Given the description of an element on the screen output the (x, y) to click on. 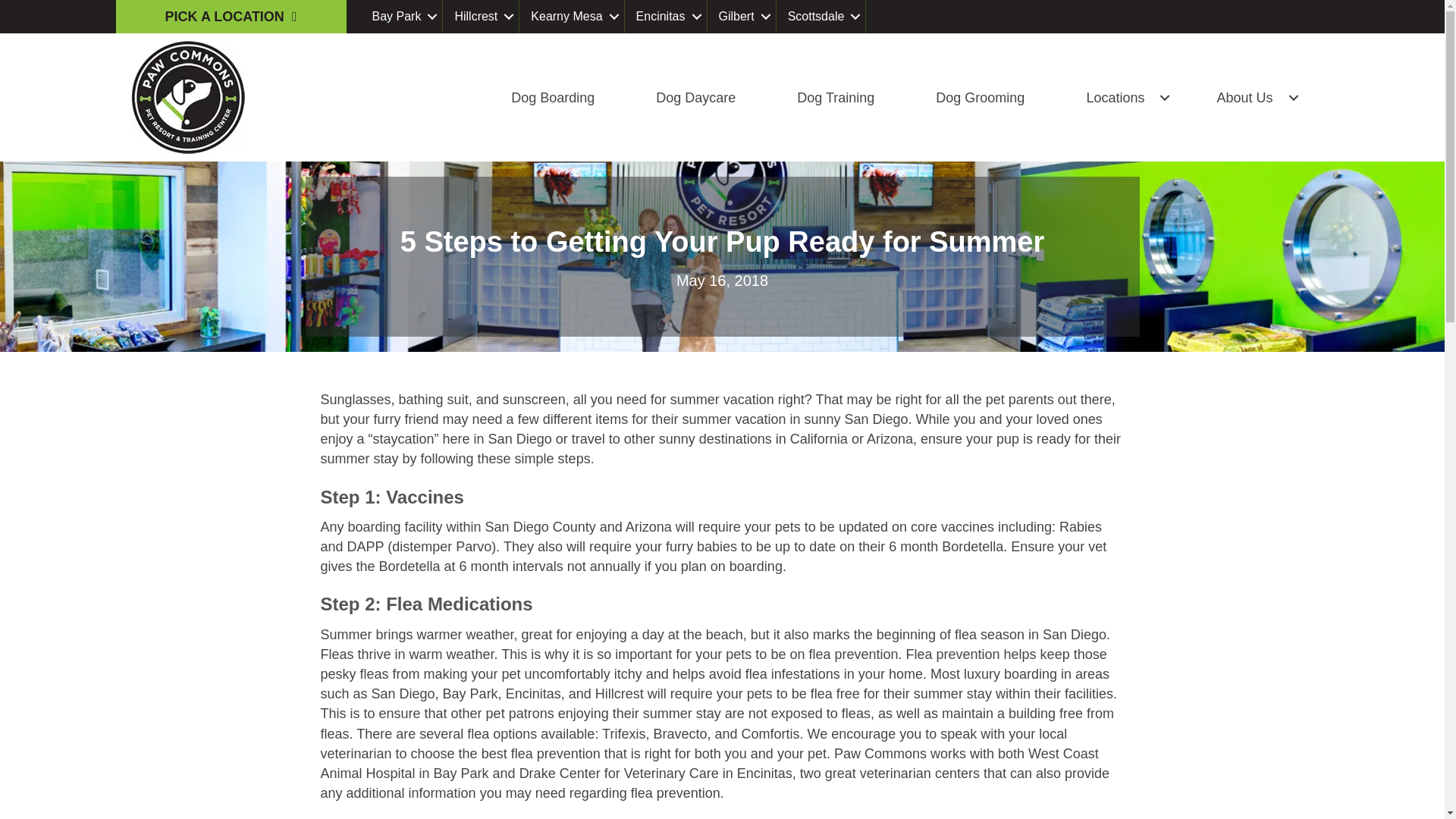
Gilbert (741, 16)
Hillcrest (481, 16)
Scottsdale (821, 16)
paw-commons-logo-v2 (187, 96)
Encinitas (666, 16)
Bay Park (401, 16)
PICK A LOCATION   (231, 16)
Kearny Mesa (571, 16)
